Given the description of an element on the screen output the (x, y) to click on. 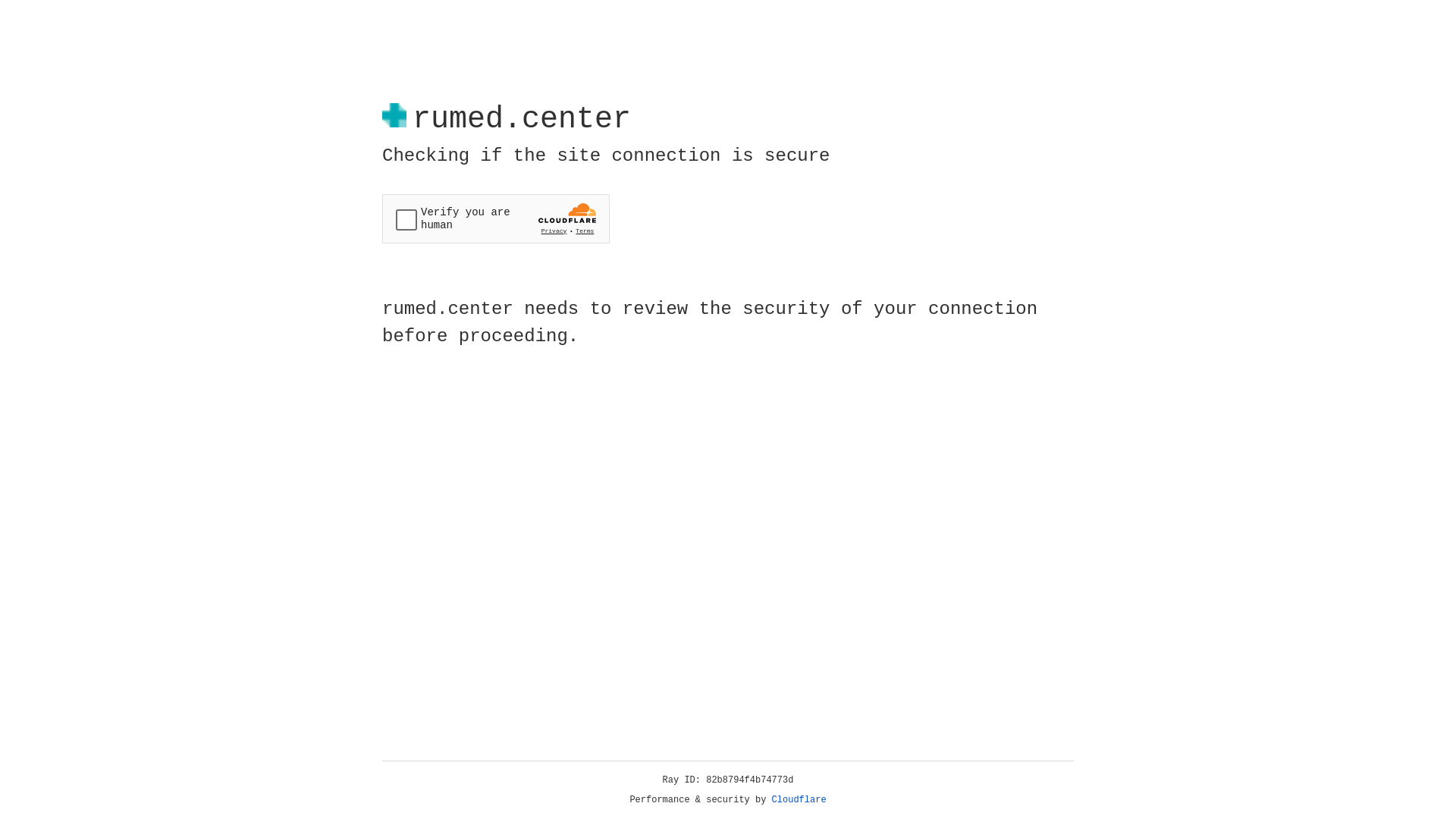
Cloudflare Element type: text (798, 799)
Widget containing a Cloudflare security challenge Element type: hover (495, 218)
